Given the description of an element on the screen output the (x, y) to click on. 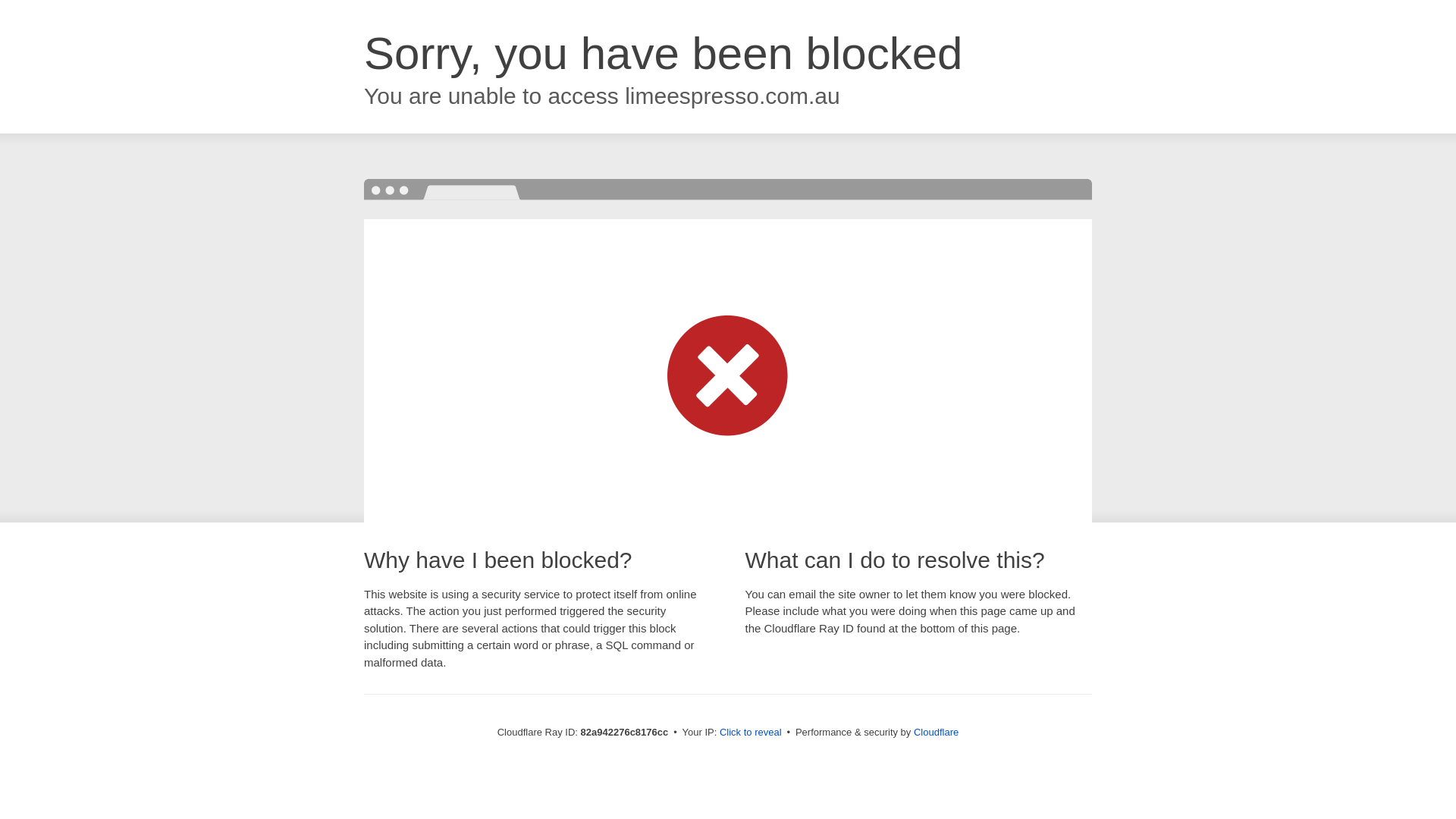
Click to reveal Element type: text (750, 732)
Cloudflare Element type: text (935, 731)
